Given the description of an element on the screen output the (x, y) to click on. 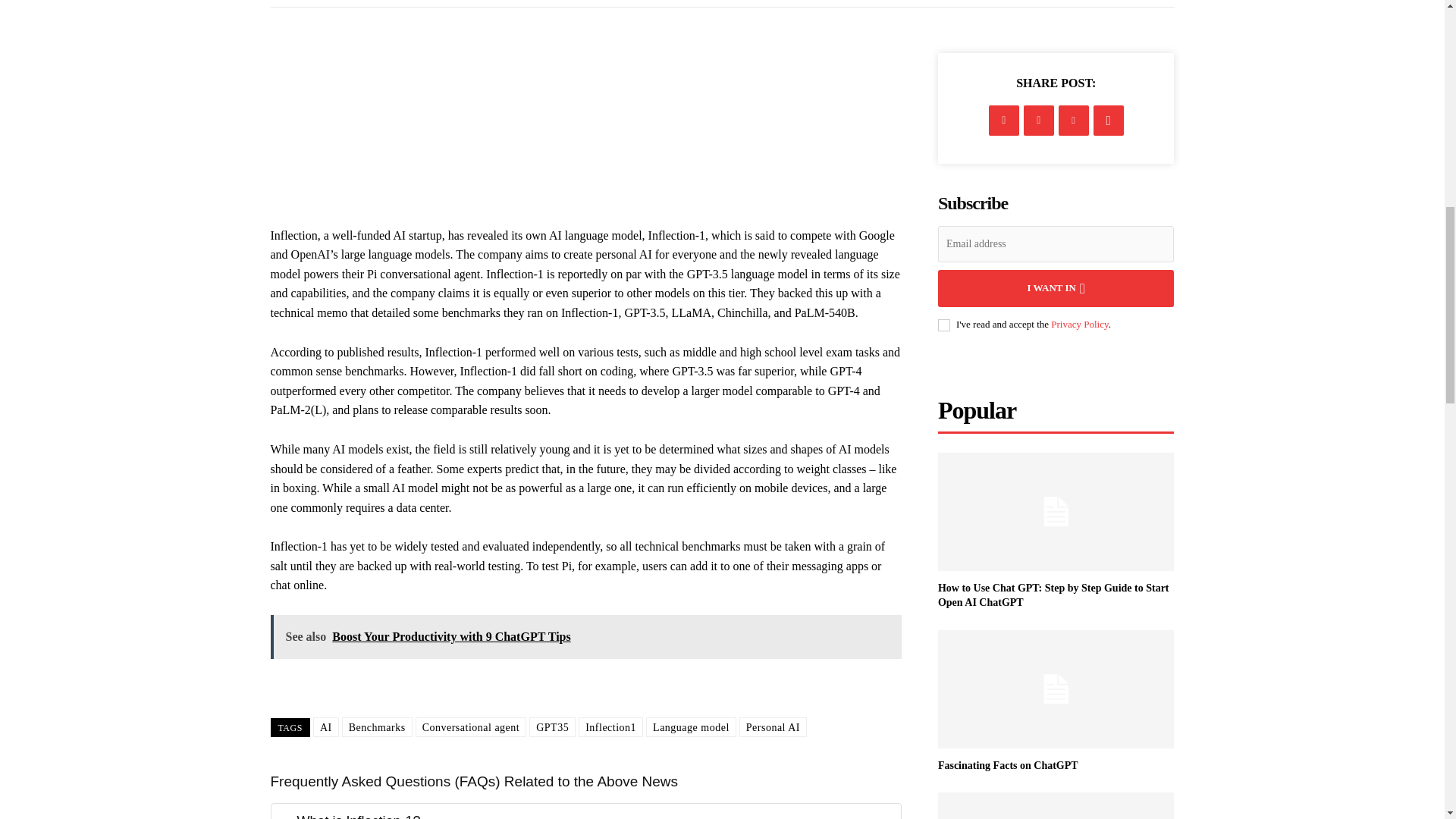
Twitter (1038, 120)
WhatsApp (1108, 120)
Fascinating Facts on ChatGPT (1007, 765)
Fascinating Facts on ChatGPT (1055, 688)
Facebook (1003, 120)
Pinterest (1073, 120)
Advertisement (545, 87)
